Given the description of an element on the screen output the (x, y) to click on. 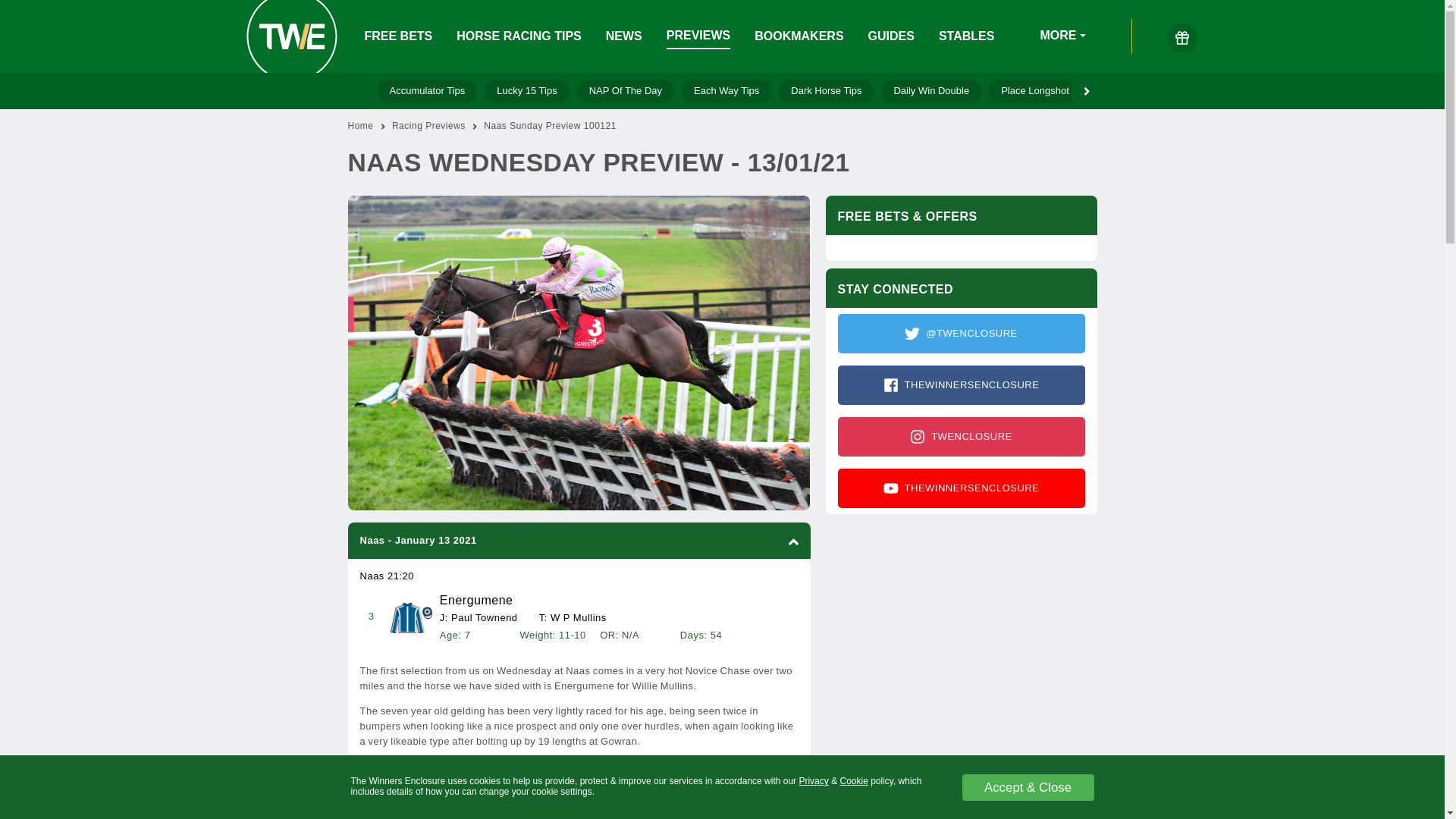
Request A Bet (1131, 91)
NEWS (623, 36)
FREE BETS (398, 36)
Place Longshot (1034, 91)
PREVIEWS (698, 36)
Dark Horse Tips (825, 91)
  THEWINNERSENCLOSURE (960, 384)
Stay Connected (960, 410)
Lucky 15 Tips (526, 91)
BOOKMAKERS (798, 36)
